Given the description of an element on the screen output the (x, y) to click on. 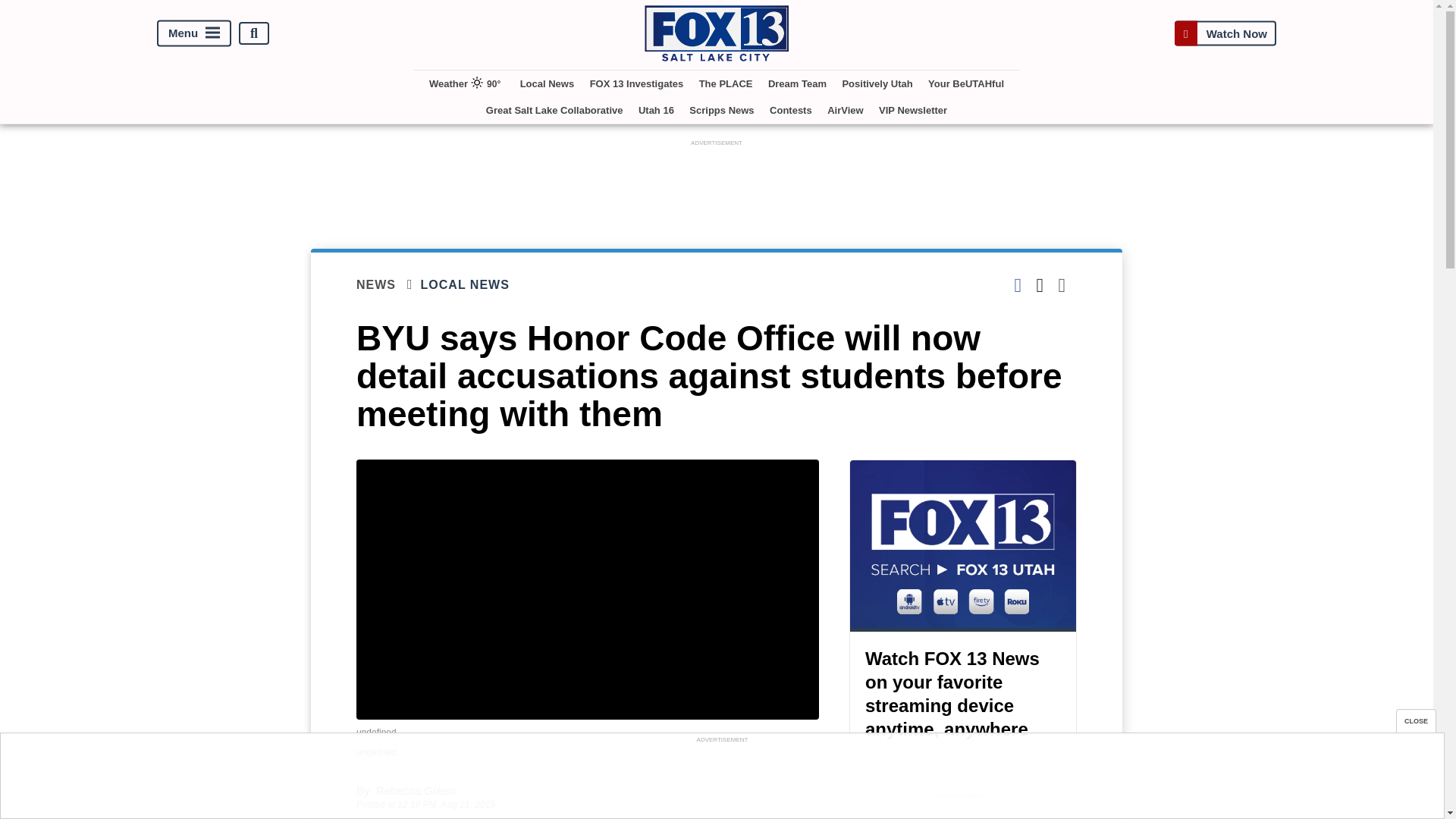
3rd party ad content (721, 780)
Menu (194, 33)
Watch Now (1224, 33)
3rd party ad content (716, 183)
3rd party ad content (962, 811)
